Given the description of an element on the screen output the (x, y) to click on. 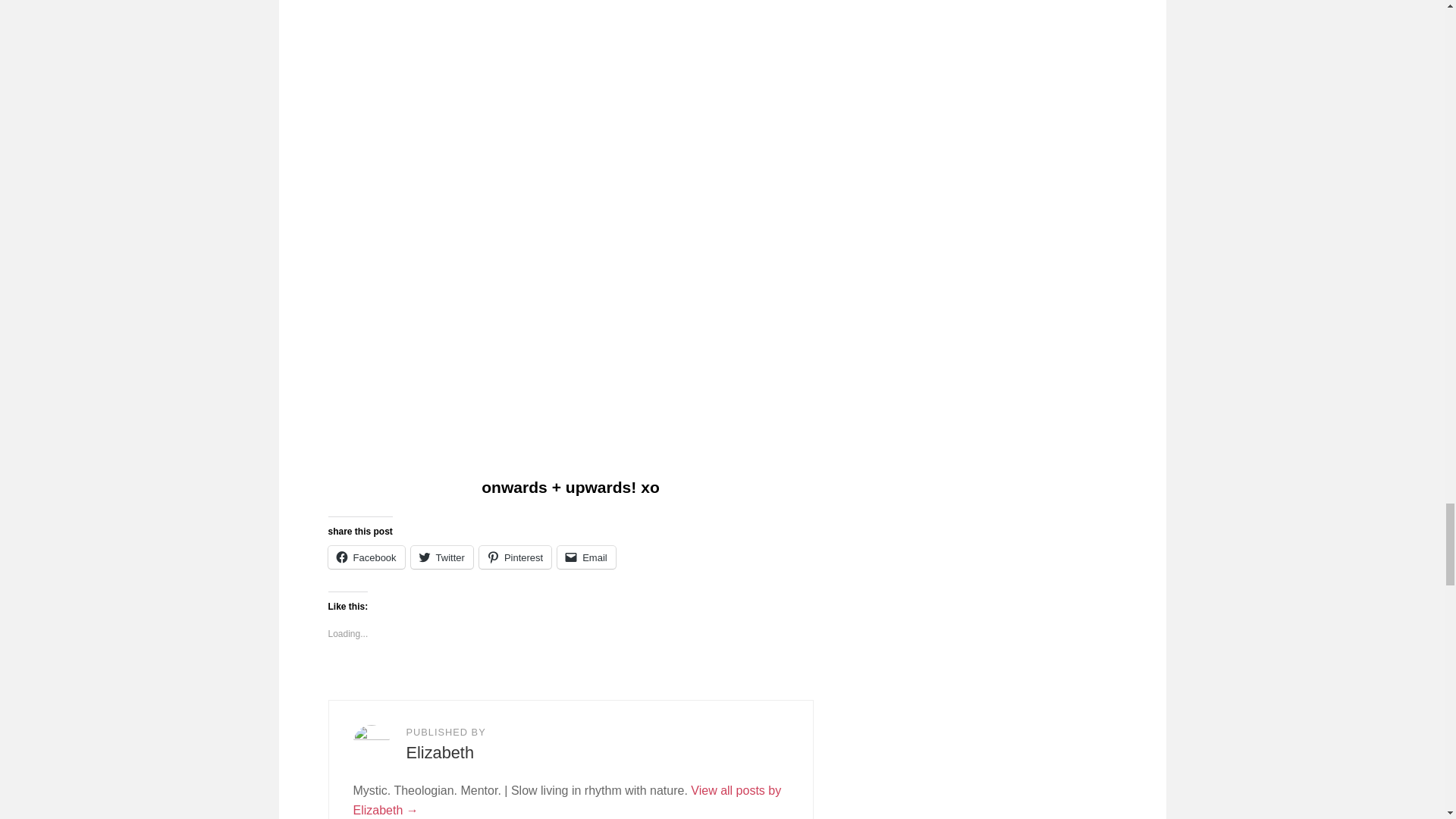
Click to share on Twitter (441, 557)
Click to share on Facebook (365, 557)
Click to email a link to a friend (586, 557)
Click to share on Pinterest (515, 557)
